Given the description of an element on the screen output the (x, y) to click on. 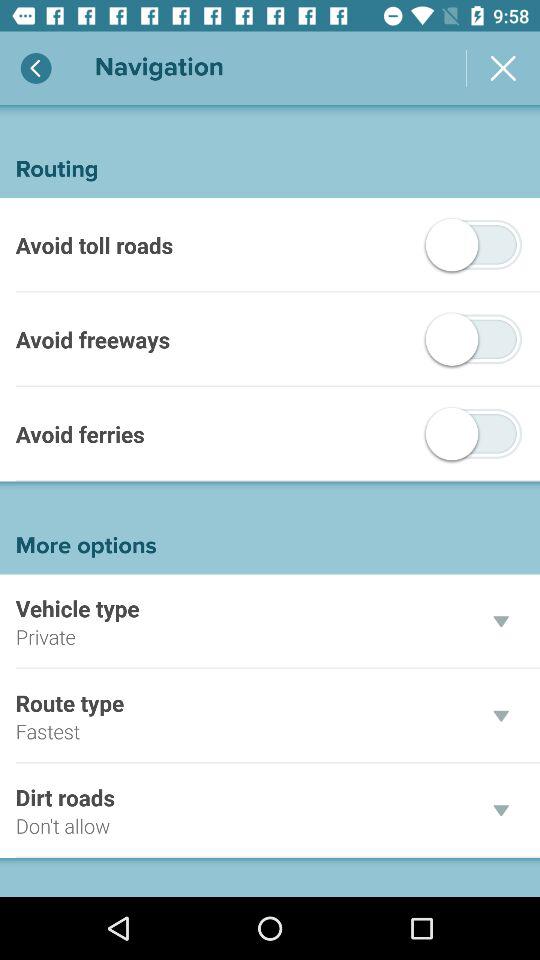
click the avoid toll roads switch button (473, 244)
